Given the description of an element on the screen output the (x, y) to click on. 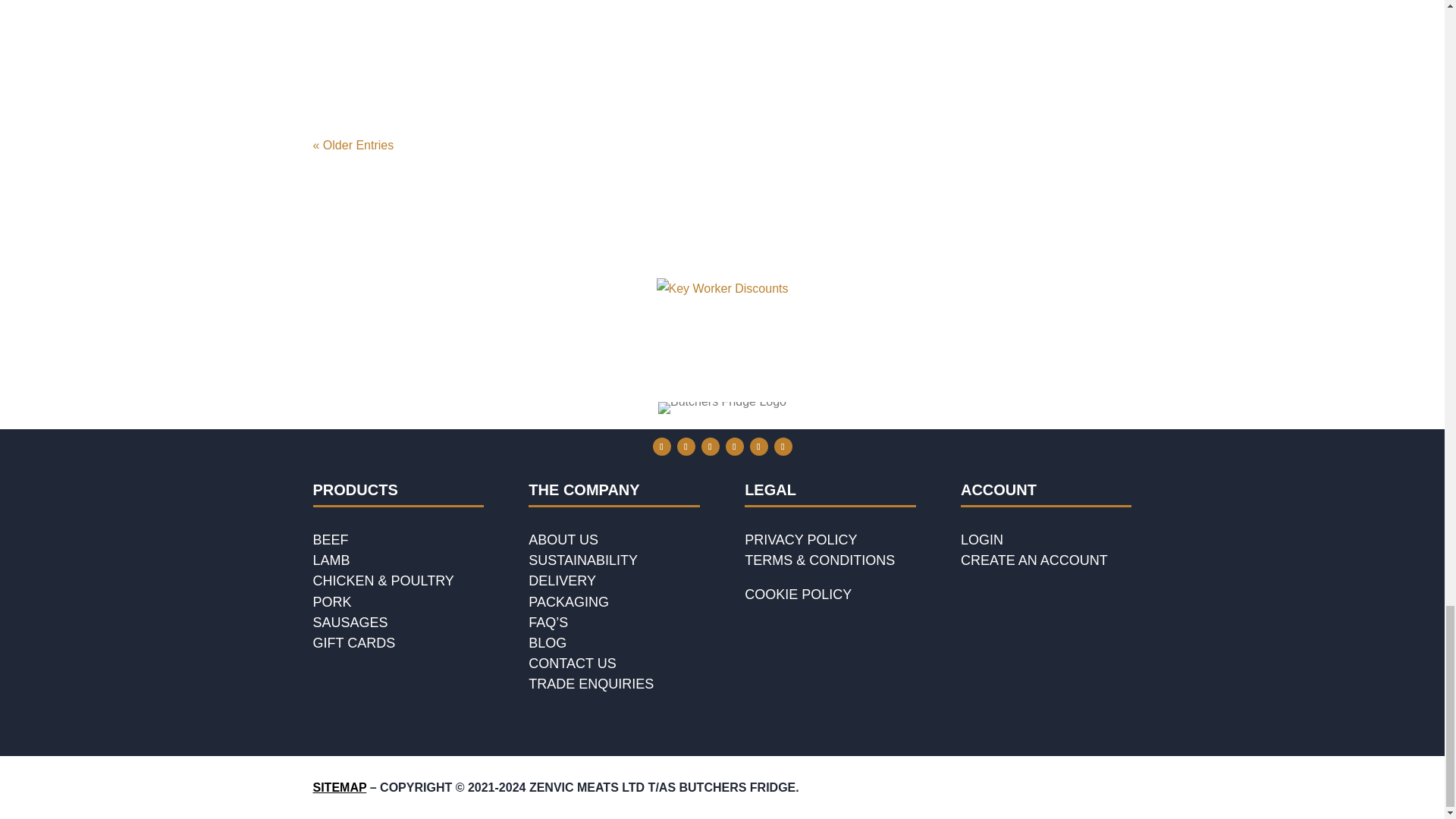
Follow on TikTok (782, 446)
Follow on X (685, 446)
Follow on LinkedIn (733, 446)
Follow on Instagram (709, 446)
Follow on Facebook (660, 446)
Follow on Youtube (758, 446)
